Given the description of an element on the screen output the (x, y) to click on. 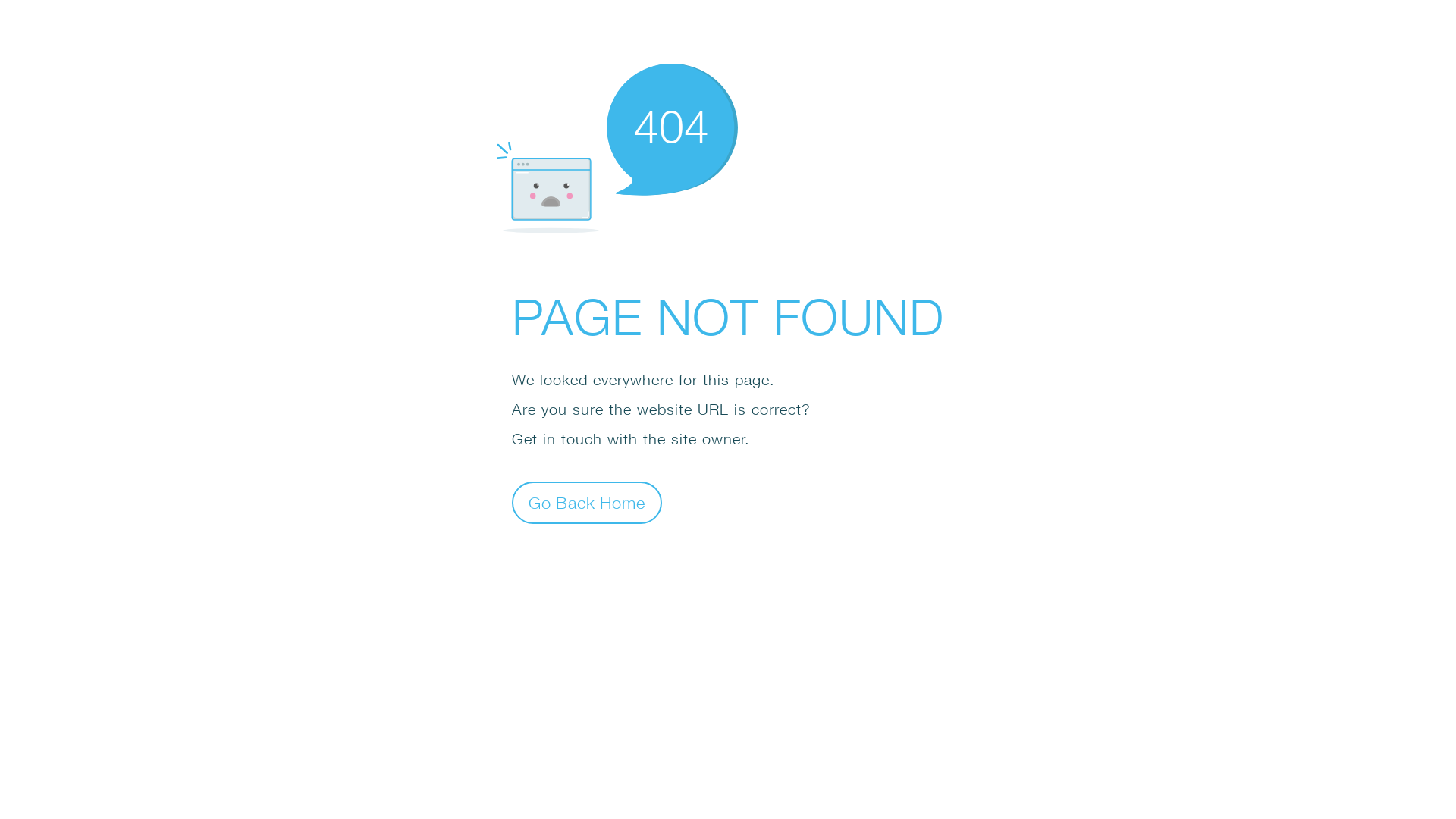
Go Back Home Element type: text (586, 502)
